Given the description of an element on the screen output the (x, y) to click on. 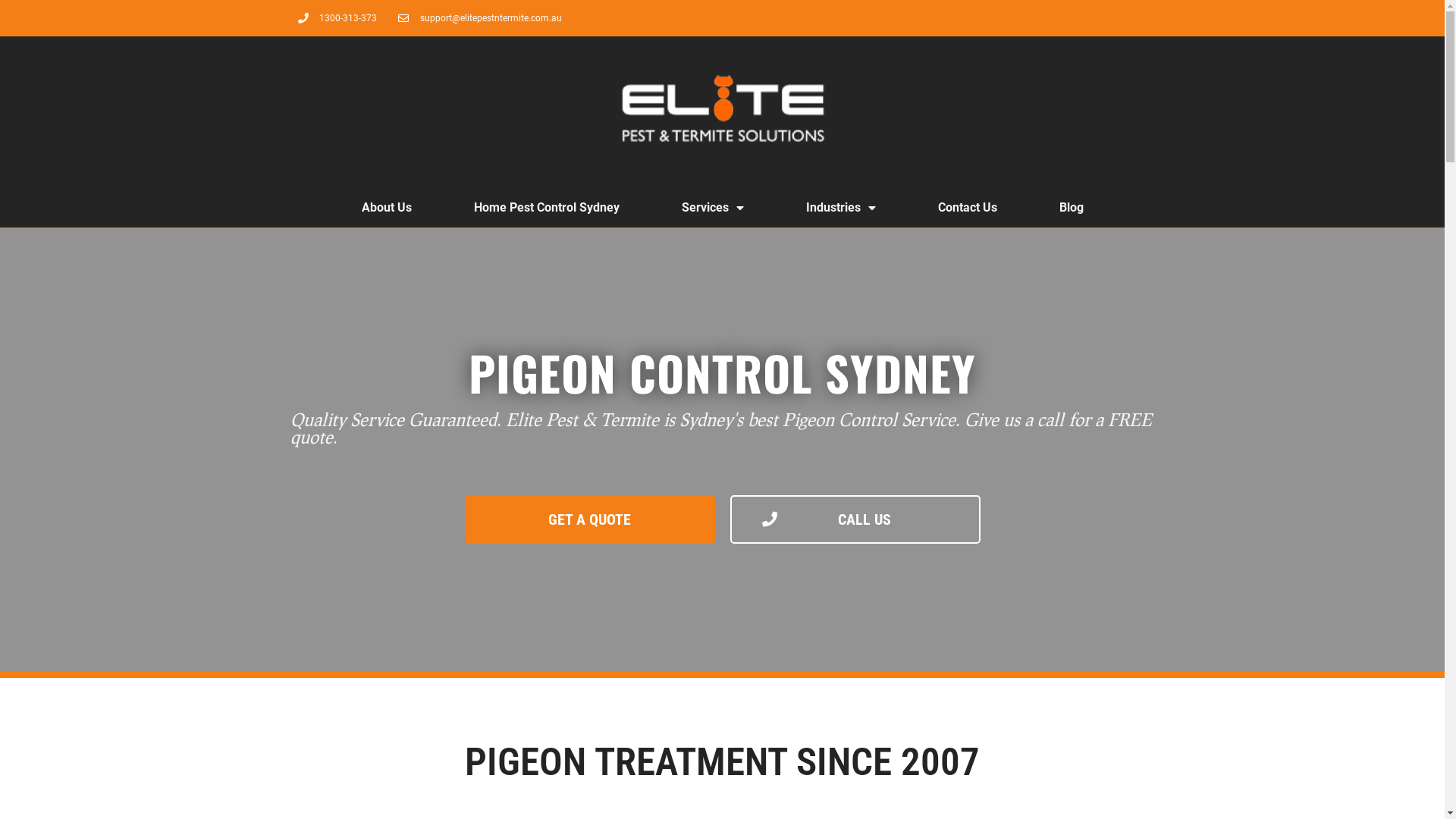
Contact Us Element type: text (967, 207)
Home Pest Control Sydney Element type: text (546, 207)
Industries Element type: text (840, 207)
CALL US Element type: text (854, 519)
GET A QUOTE Element type: text (589, 519)
About Us Element type: text (386, 207)
Services Element type: text (712, 207)
Blog Element type: text (1071, 207)
